Given the description of an element on the screen output the (x, y) to click on. 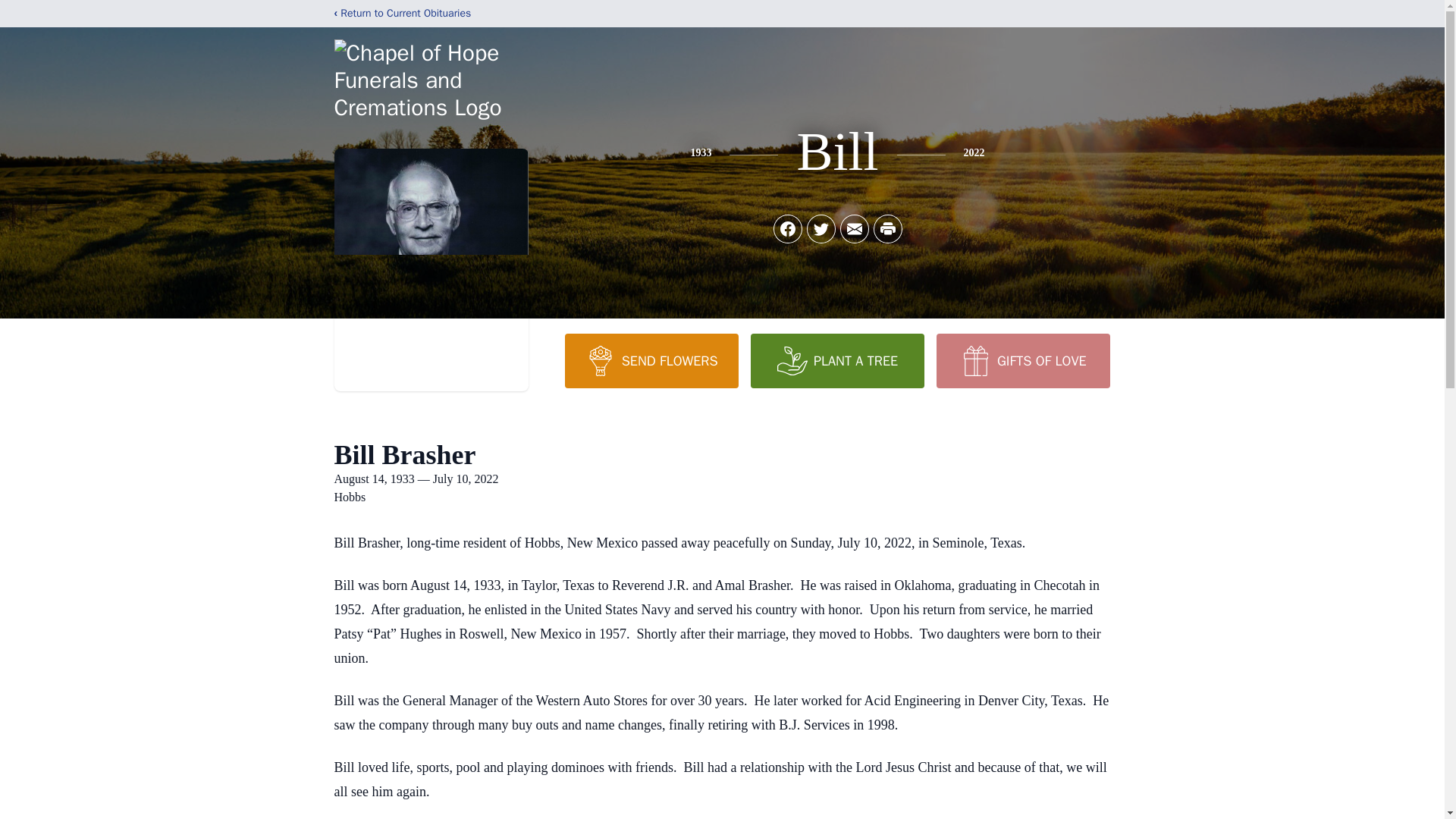
PLANT A TREE (837, 360)
GIFTS OF LOVE (1022, 360)
SEND FLOWERS (651, 360)
